Given the description of an element on the screen output the (x, y) to click on. 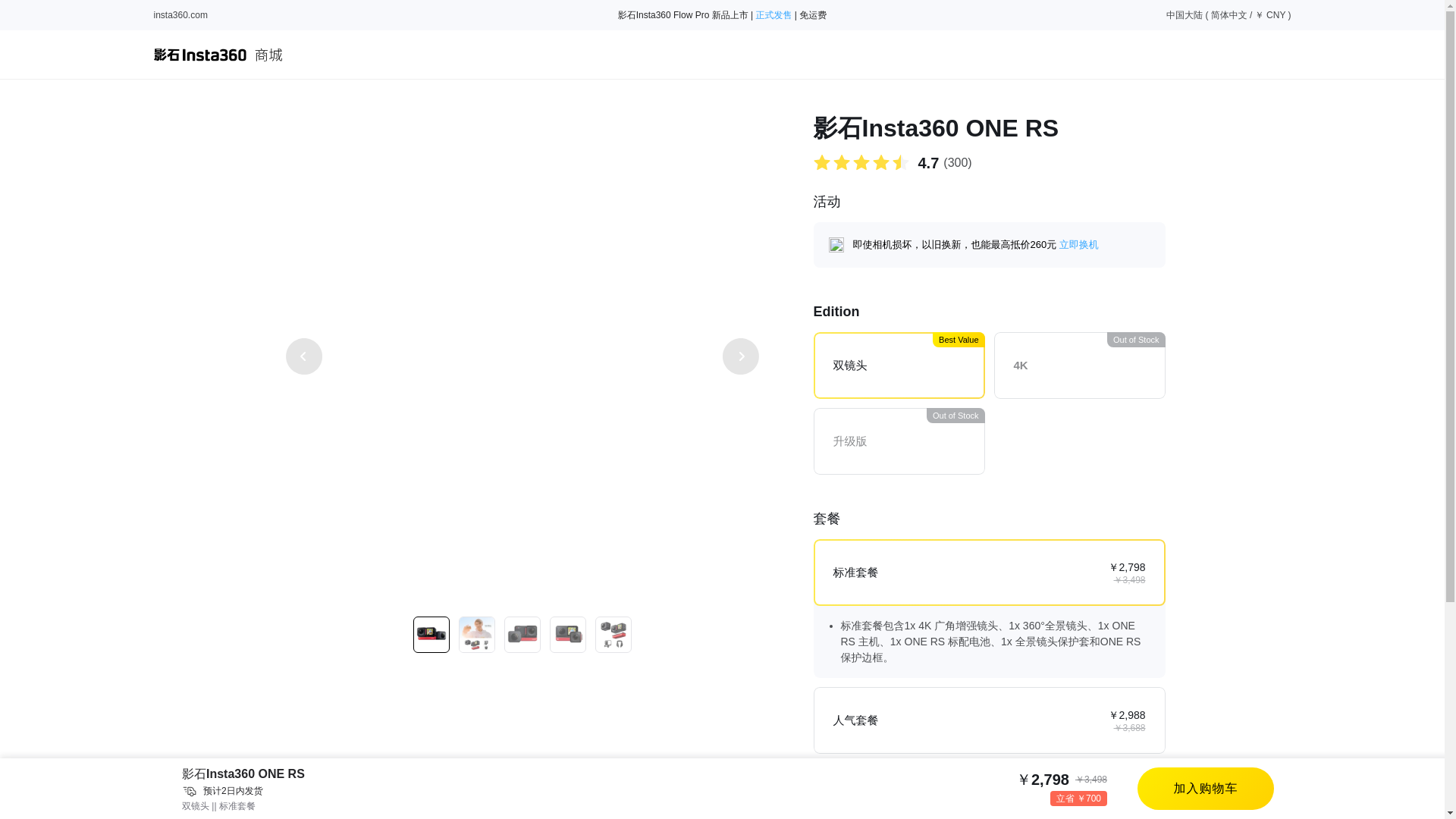
insta360.com (179, 15)
